Given the description of an element on the screen output the (x, y) to click on. 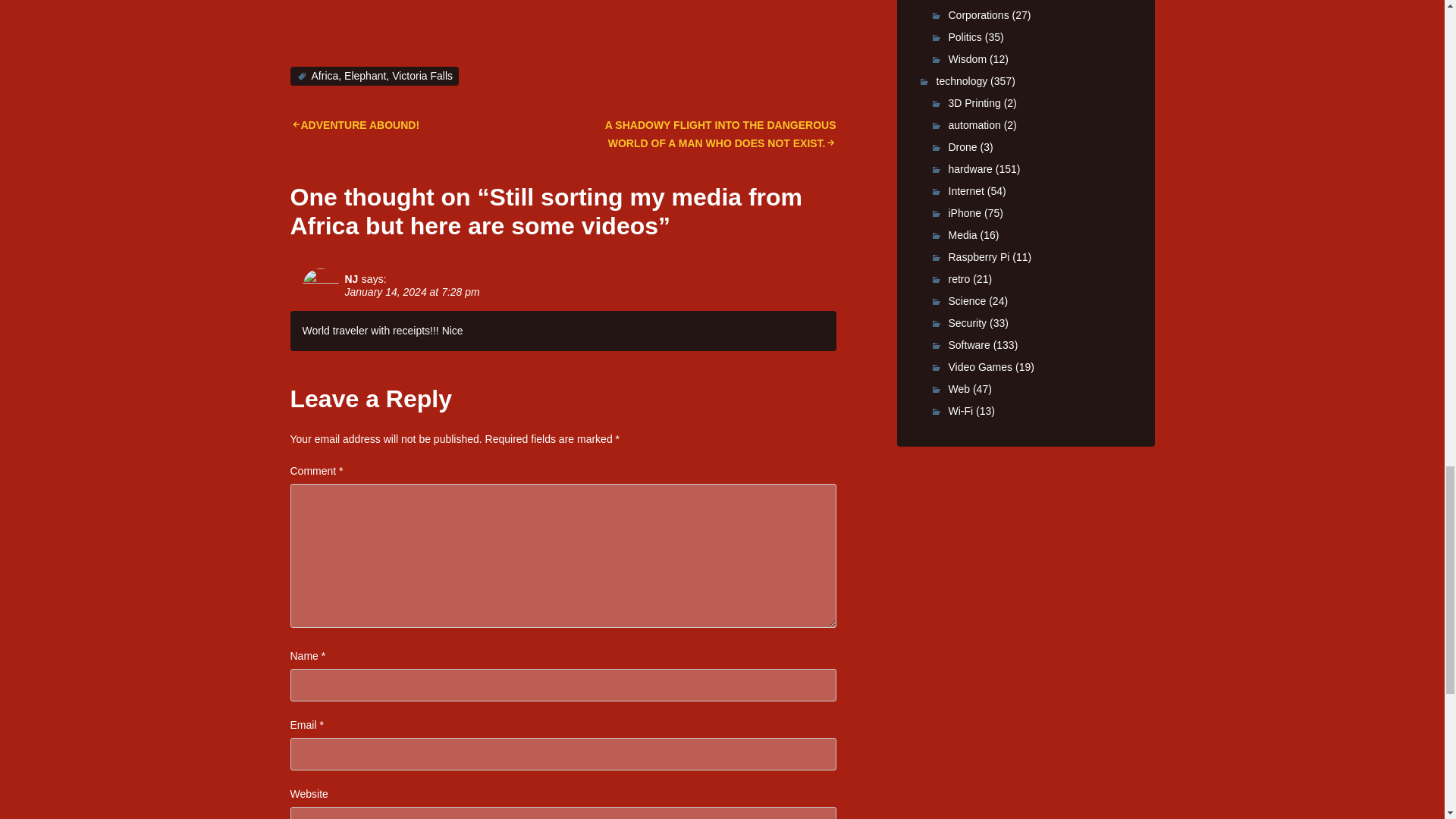
January 14, 2024 at 7:28 pm (411, 291)
Elephant (364, 75)
Victoria Falls (421, 75)
Africa (324, 75)
ADVENTURE ABOUND! (354, 124)
